Given the description of an element on the screen output the (x, y) to click on. 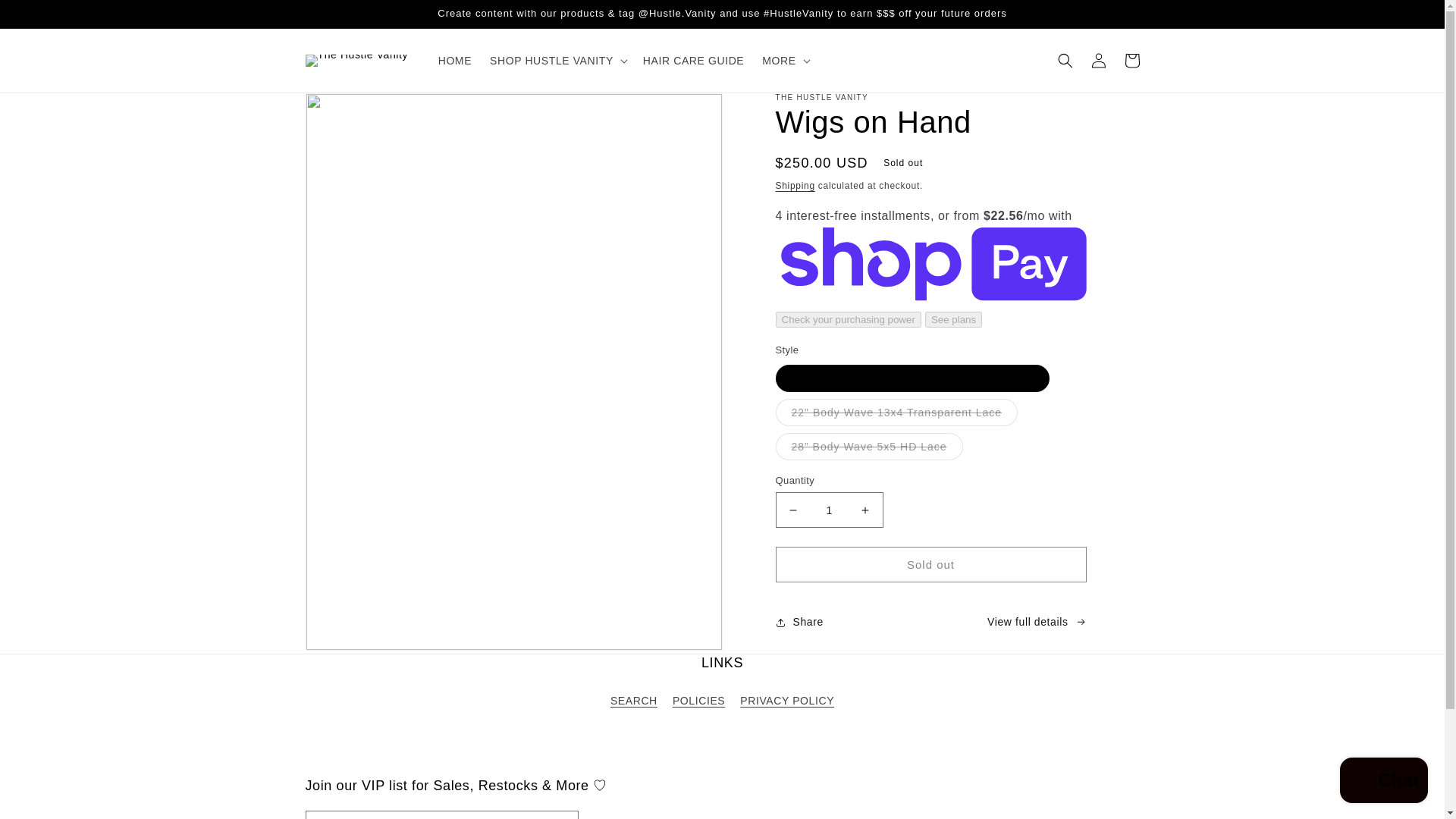
HAIR CARE GUIDE (692, 60)
1 (828, 509)
Skip to content (45, 17)
HOME (454, 60)
Log in (1098, 60)
Shopify online store chat (1383, 781)
